Given the description of an element on the screen output the (x, y) to click on. 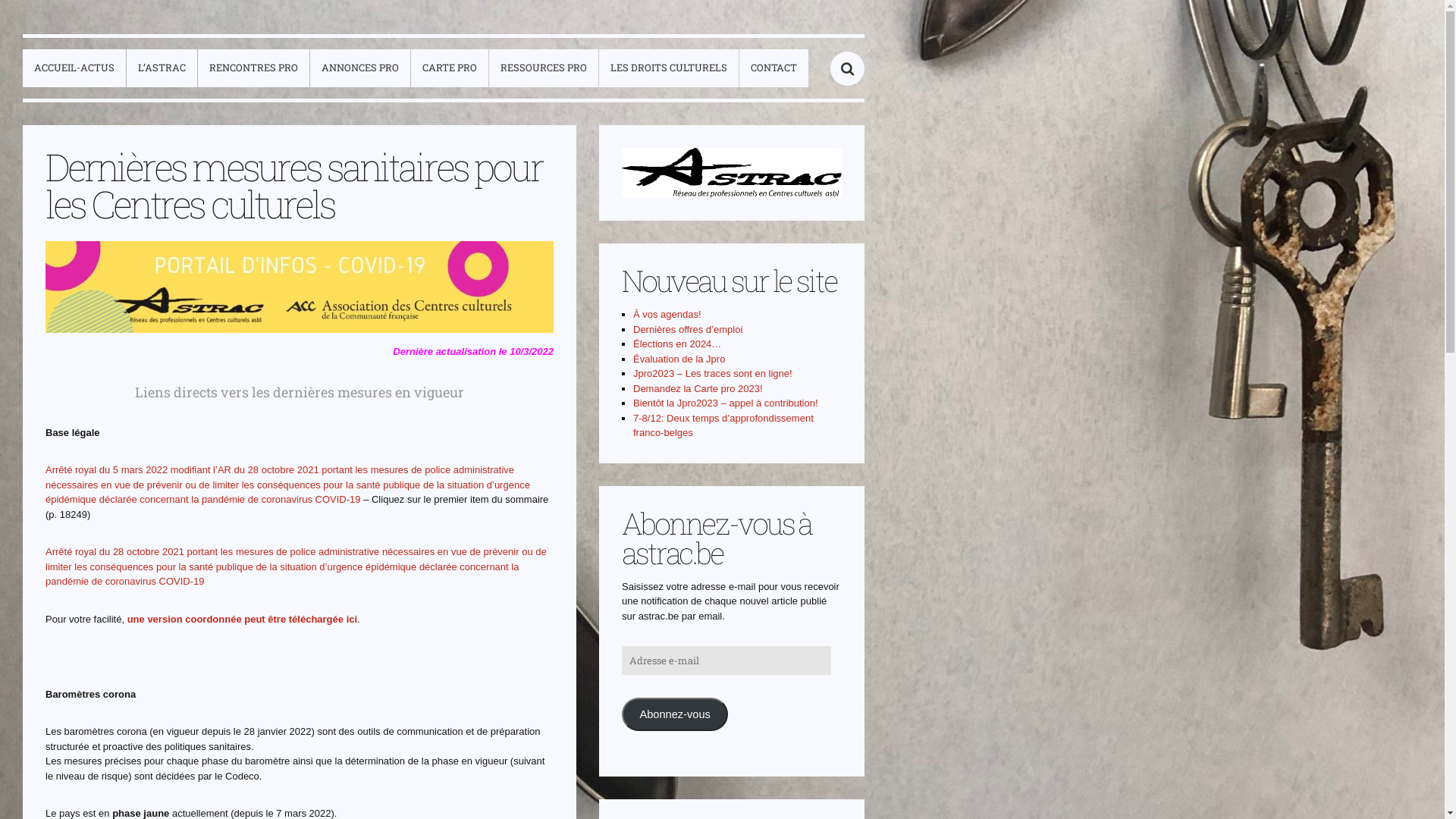
ACCUEIL-ACTUS Element type: text (73, 68)
Demandez la Carte pro 2023! Element type: text (697, 388)
ANNONCES PRO Element type: text (360, 68)
LES DROITS CULTURELS Element type: text (668, 68)
CONTACT Element type: text (773, 68)
Abonnez-vous Element type: text (674, 714)
RESSOURCES PRO Element type: text (543, 68)
CARTE PRO Element type: text (449, 68)
RENCONTRES PRO Element type: text (253, 68)
